Given the description of an element on the screen output the (x, y) to click on. 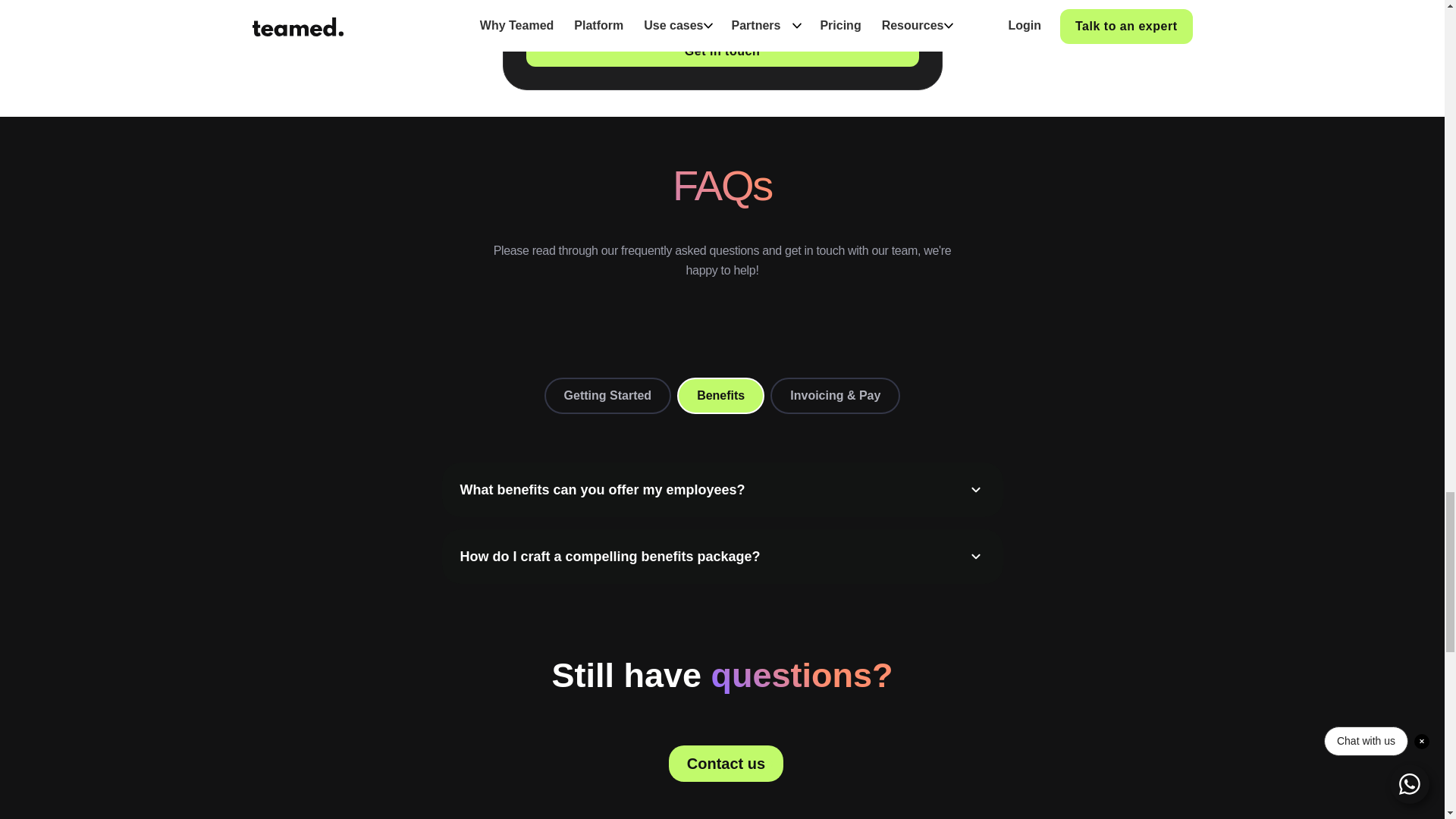
Privacy Policy (814, 6)
Get in touch (721, 51)
Benefits (720, 395)
Get in touch (721, 51)
Getting Started (607, 395)
